Given the description of an element on the screen output the (x, y) to click on. 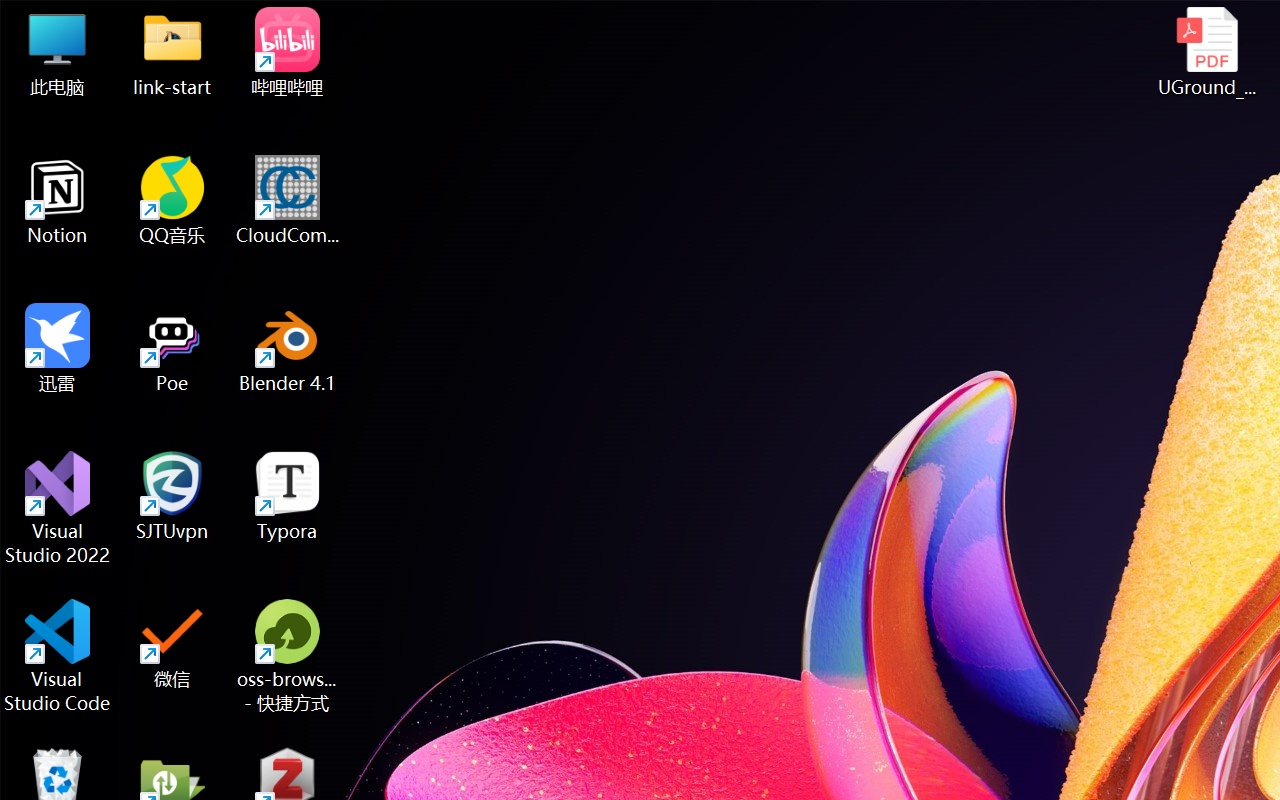
Visual Studio 2022 (57, 508)
UGround_paper.pdf (1206, 52)
CloudCompare (287, 200)
Typora (287, 496)
Blender 4.1 (287, 348)
Visual Studio Code (57, 656)
